Given the description of an element on the screen output the (x, y) to click on. 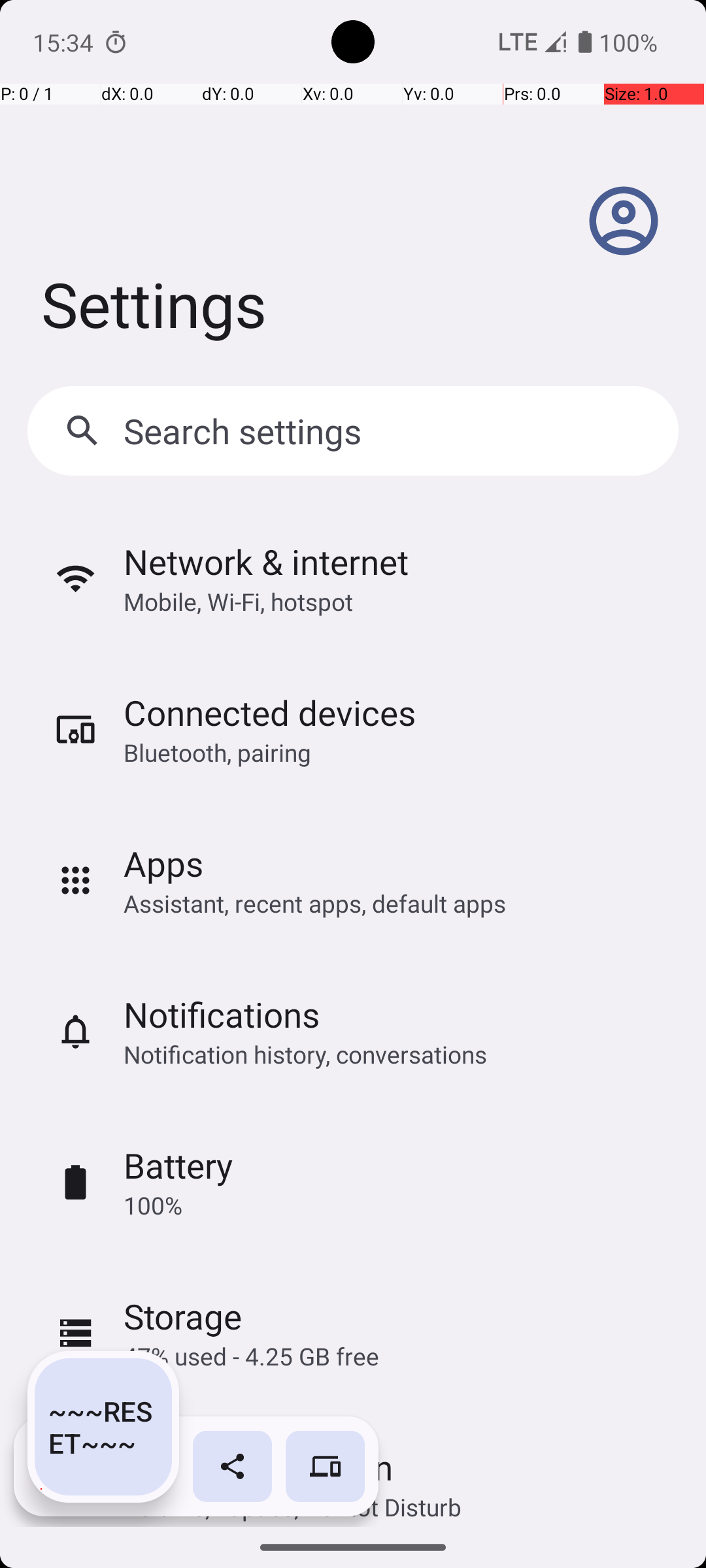
Send to nearby device Element type: android.widget.FrameLayout (324, 1466)
